Given the description of an element on the screen output the (x, y) to click on. 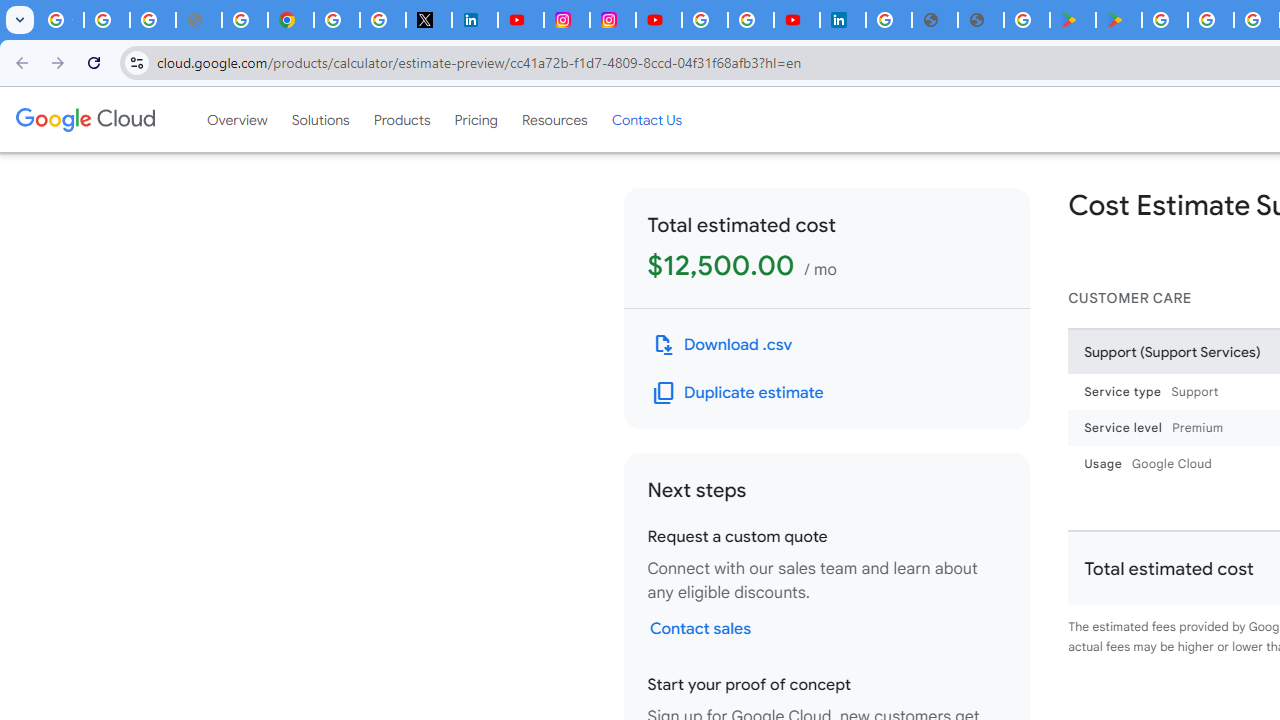
PAW Patrol Rescue World - Apps on Google Play (1118, 20)
User Details (980, 20)
Android Apps on Google Play (1072, 20)
Contact Us (646, 119)
google_privacy_policy_en.pdf (934, 20)
LinkedIn Privacy Policy (474, 20)
Sign in - Google Accounts (889, 20)
Sign in - Google Accounts (336, 20)
Download .csv file (722, 344)
Sign in - Google Accounts (705, 20)
